Given the description of an element on the screen output the (x, y) to click on. 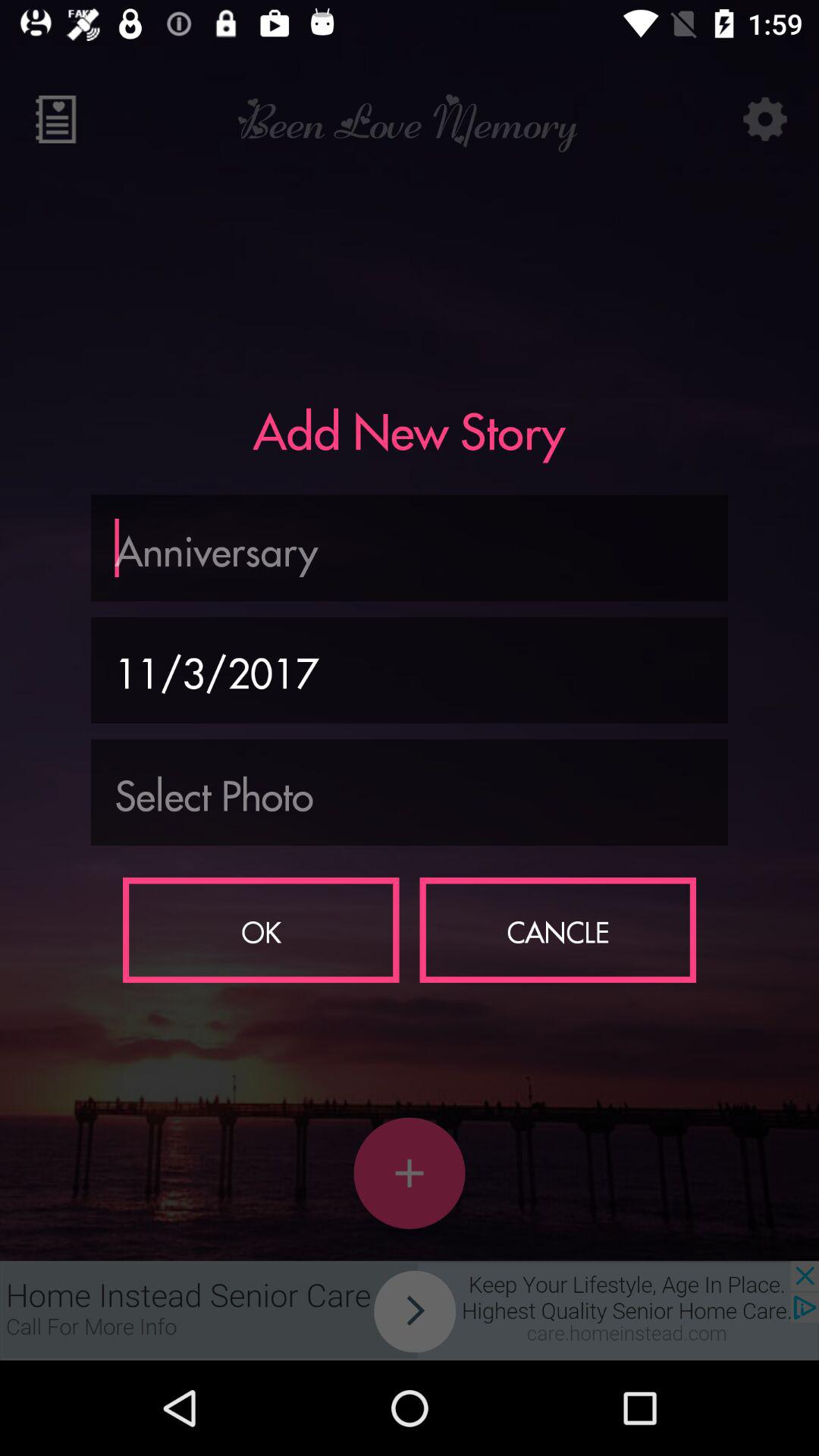
click cancle item (557, 929)
